Given the description of an element on the screen output the (x, y) to click on. 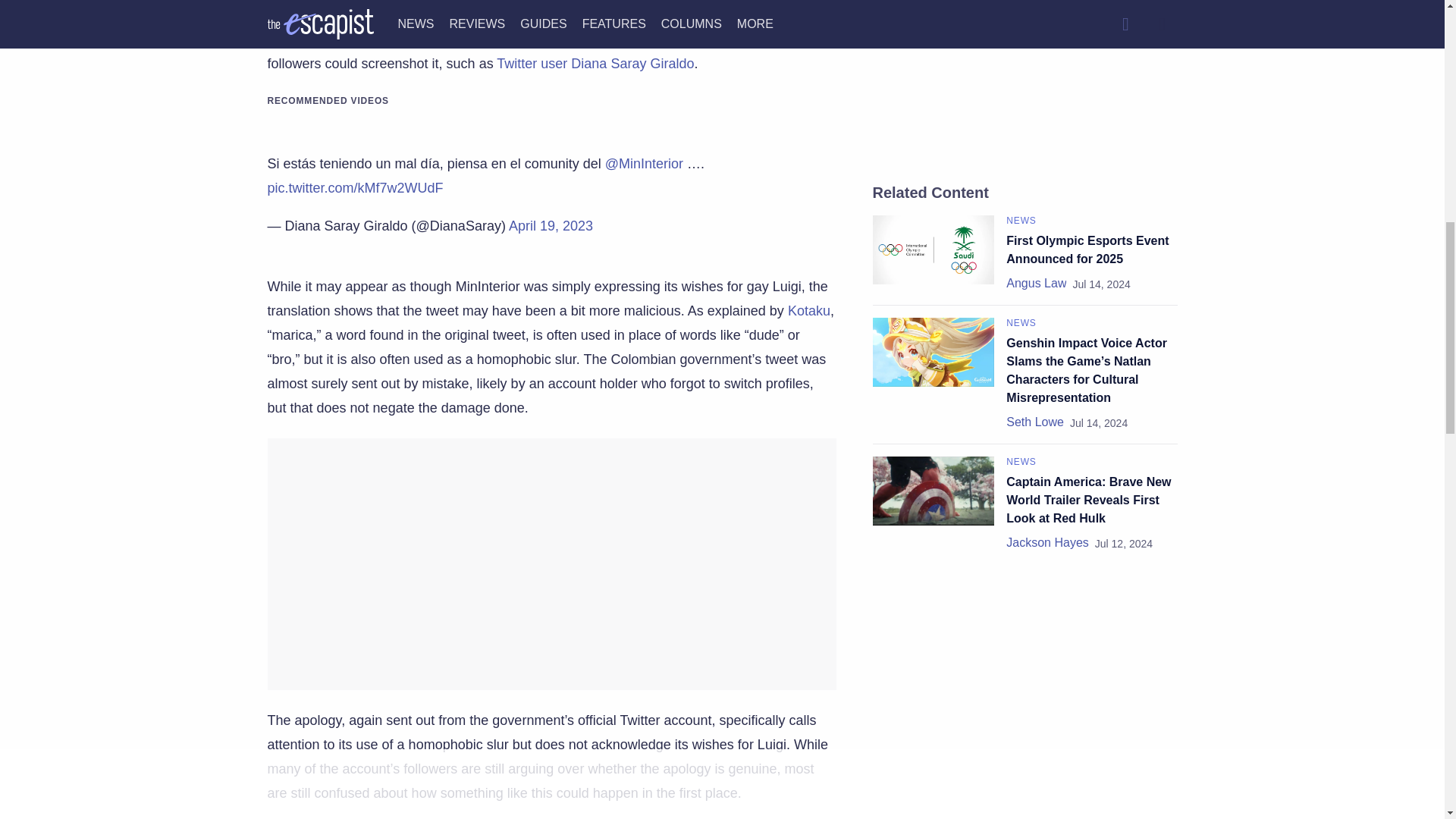
3rd party ad content (1024, 69)
